Given the description of an element on the screen output the (x, y) to click on. 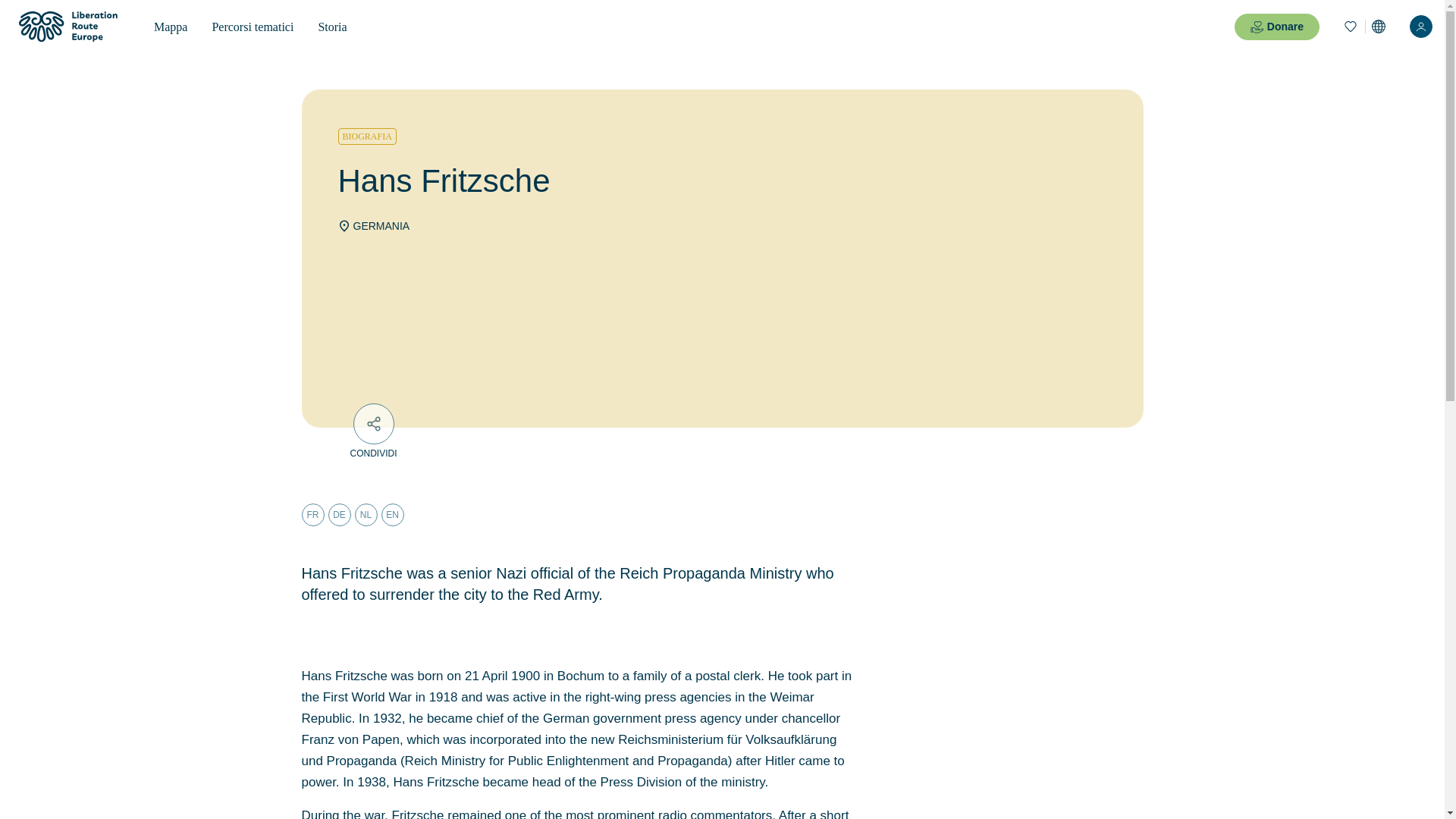
Donare (1276, 26)
DE (338, 514)
EN (391, 514)
FR (312, 514)
Storia (331, 26)
Percorsi tematici (252, 26)
Mappa (170, 26)
NL (366, 514)
